Given the description of an element on the screen output the (x, y) to click on. 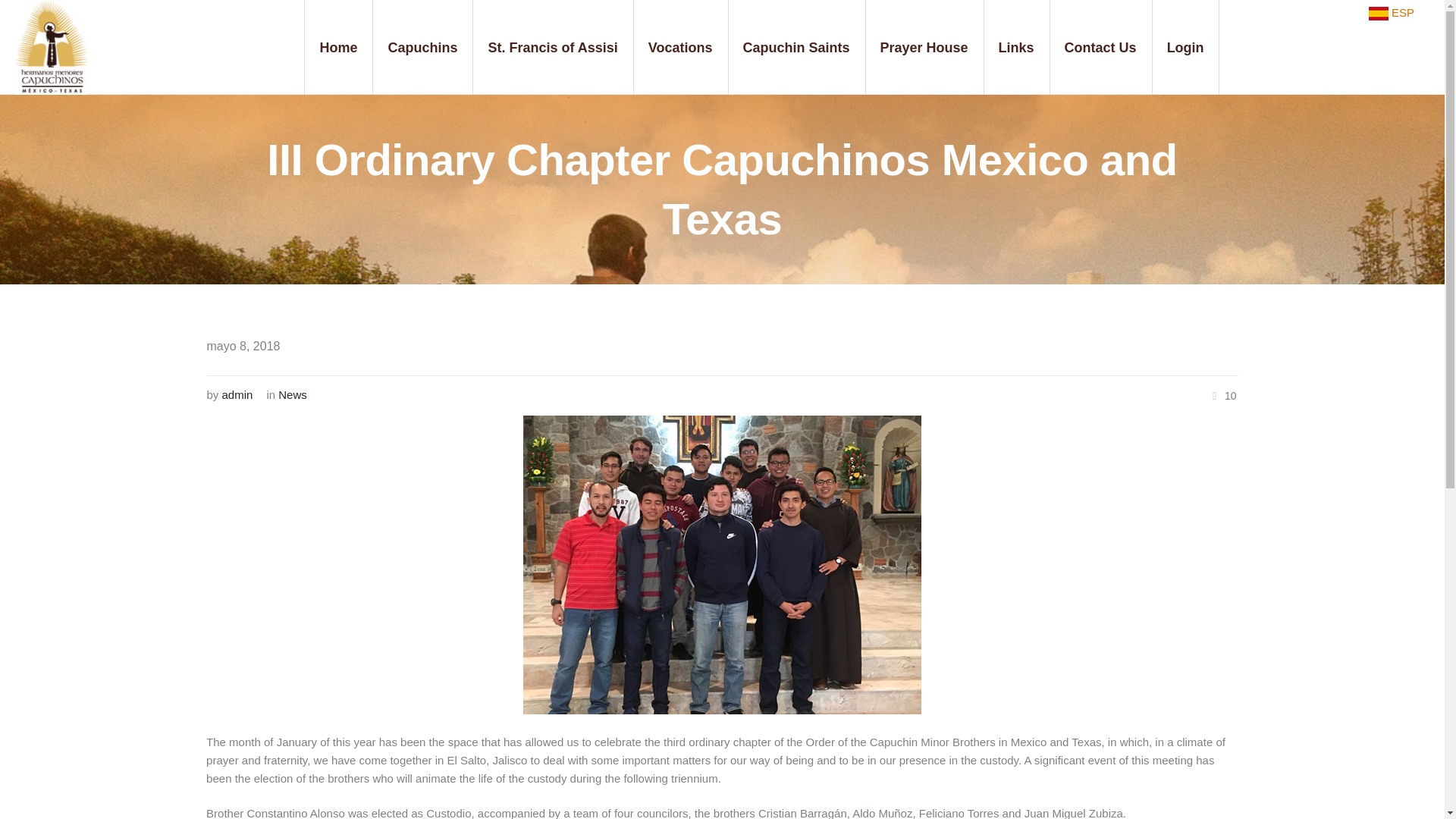
III Ordinary Chapter Capuchinos Mexico and Texas (721, 563)
Posts by admin (237, 394)
St. Francis of Assisi (551, 47)
Prayer House (924, 47)
Capuchin Saints (796, 47)
Vocations (680, 47)
Capuchins (421, 47)
III Ordinary Chapter Capuchinos Mexico and Texas (721, 564)
mayo 8, 2018 (242, 346)
